Given the description of an element on the screen output the (x, y) to click on. 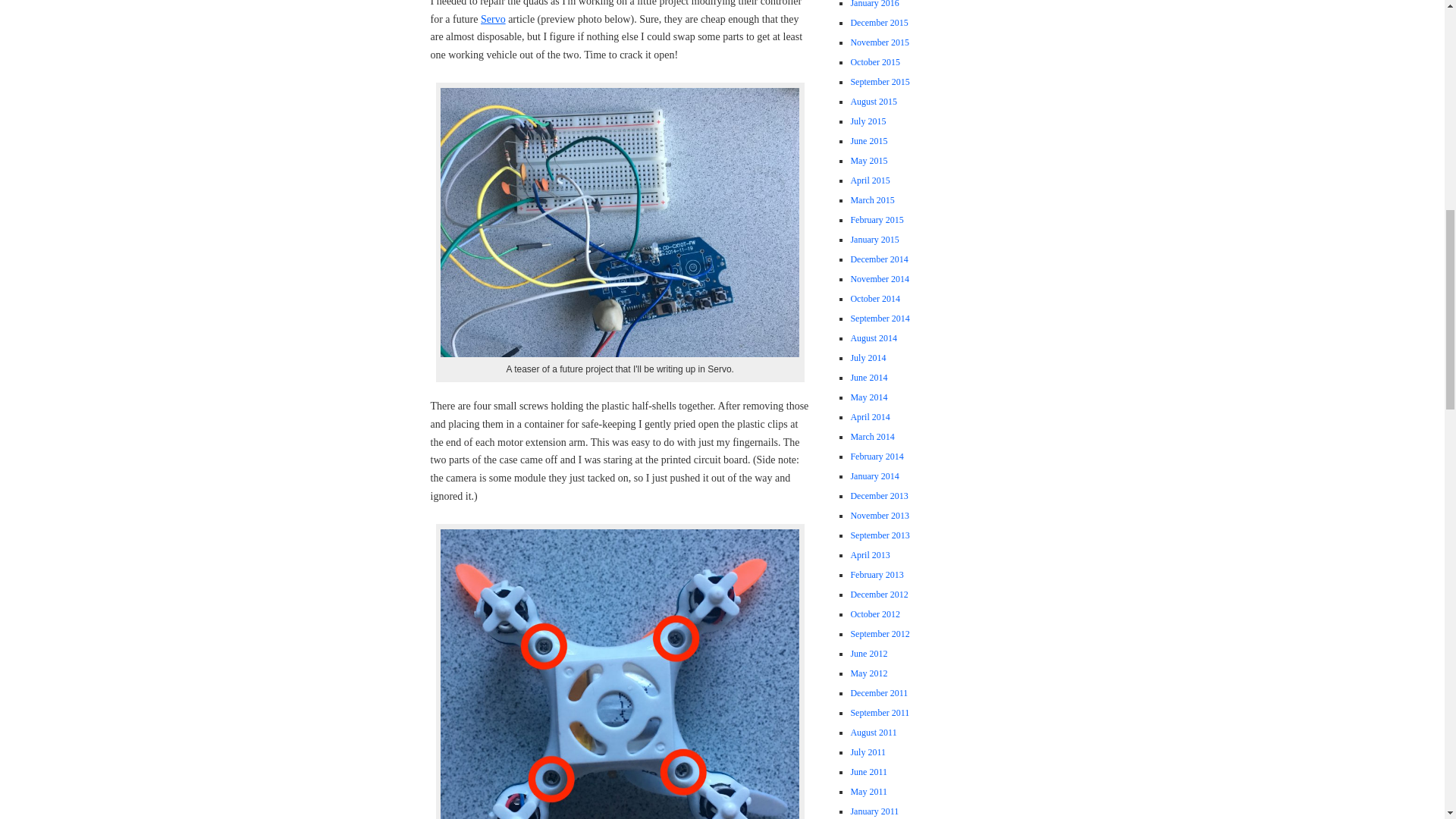
Servo (492, 19)
